Given the description of an element on the screen output the (x, y) to click on. 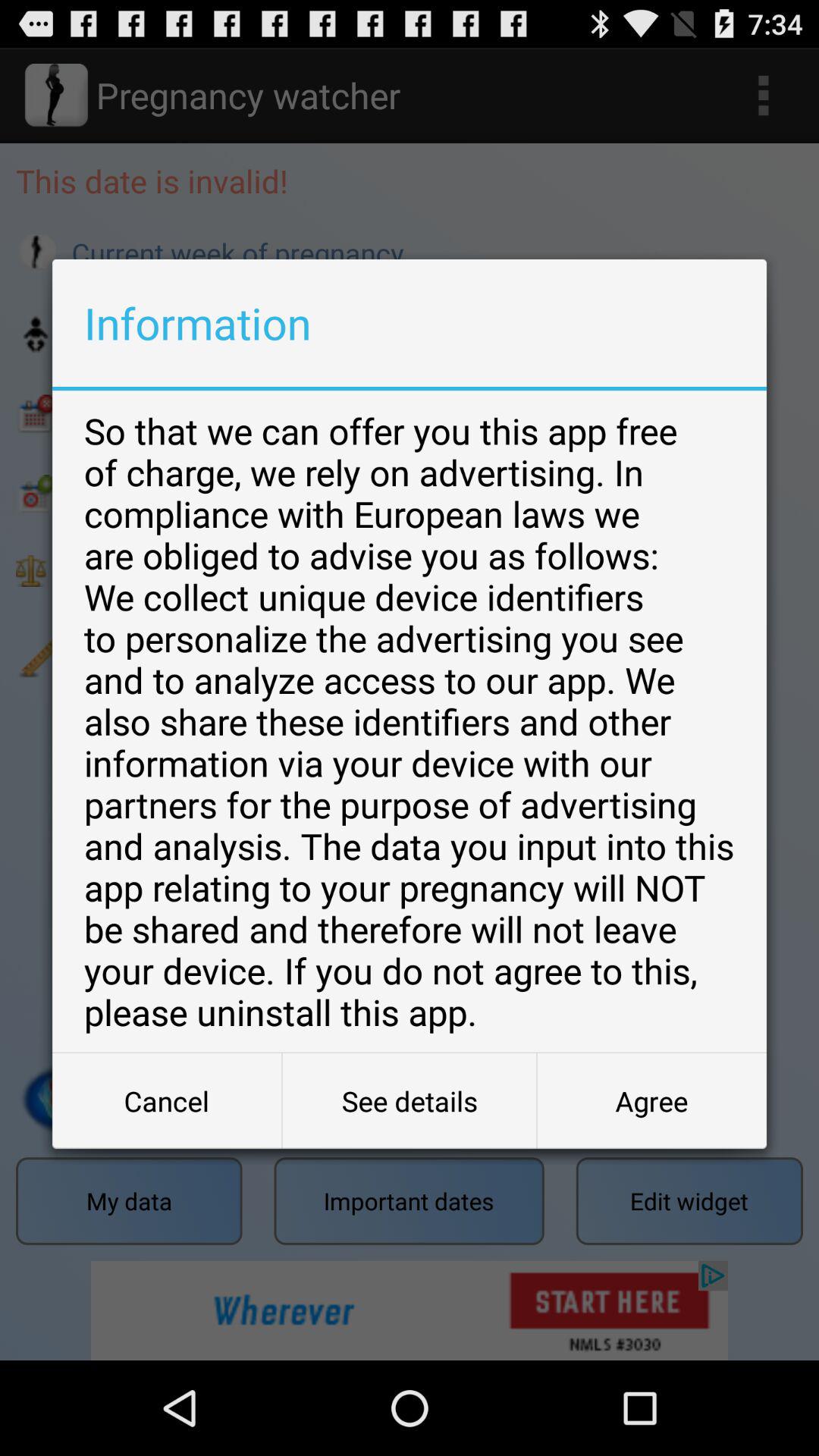
click the item below the so that we (409, 1100)
